Given the description of an element on the screen output the (x, y) to click on. 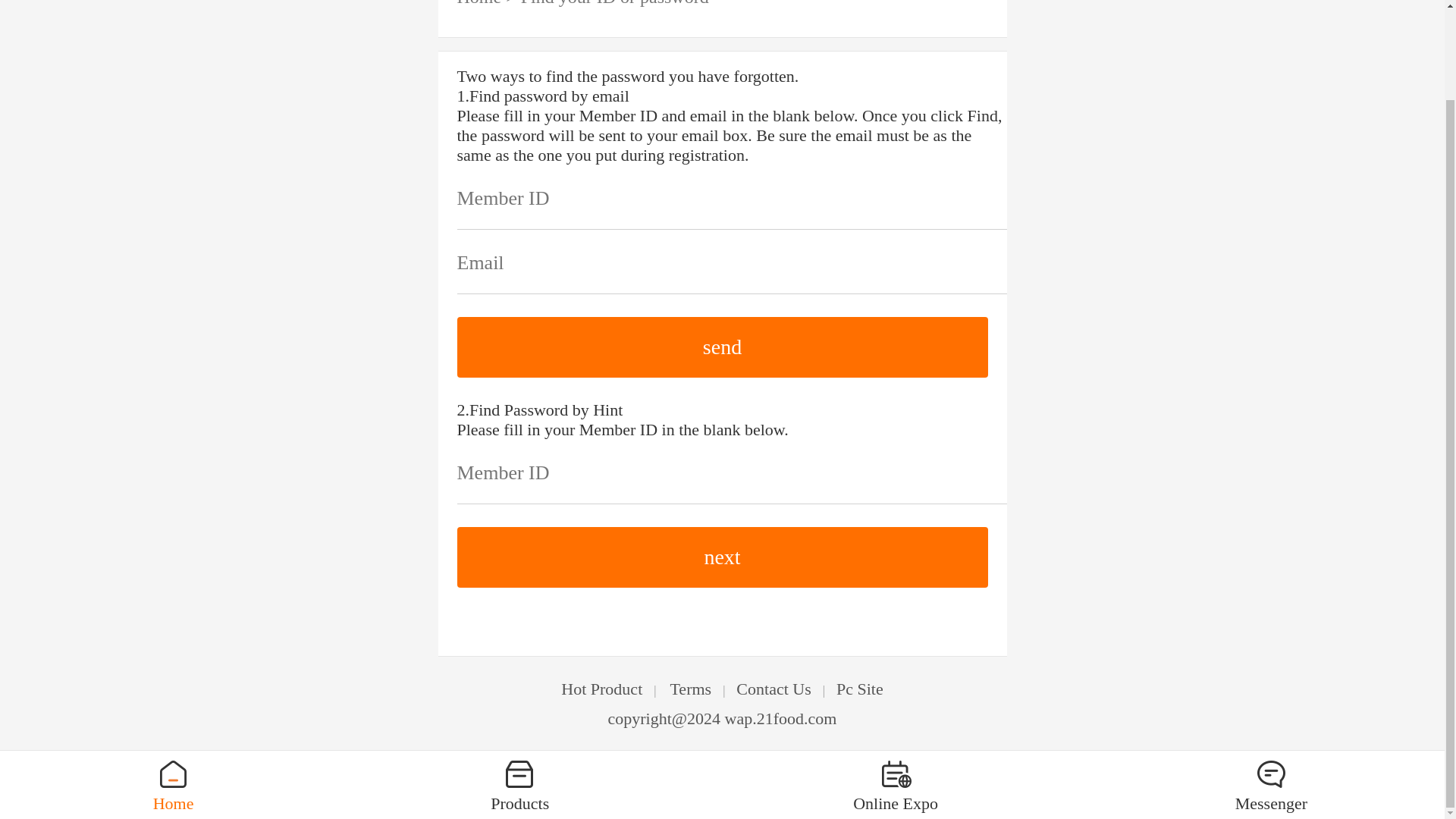
Home (478, 3)
  Home (173, 684)
